Given the description of an element on the screen output the (x, y) to click on. 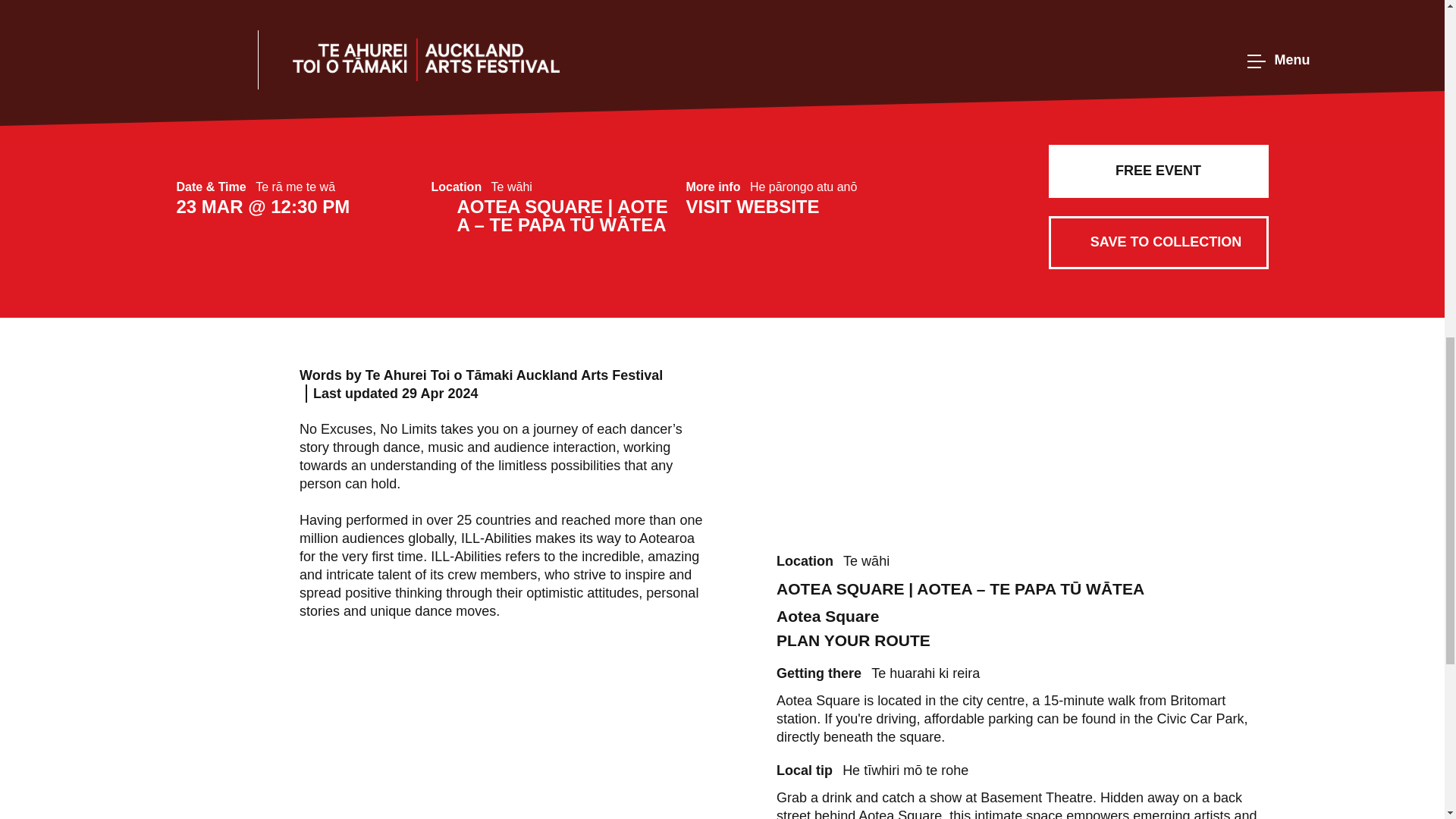
VISIT WEBSITE (812, 207)
SAVE TO COLLECTION (1158, 242)
PLAN YOUR ROUTE (971, 640)
FREE EVENT (1158, 171)
